Given the description of an element on the screen output the (x, y) to click on. 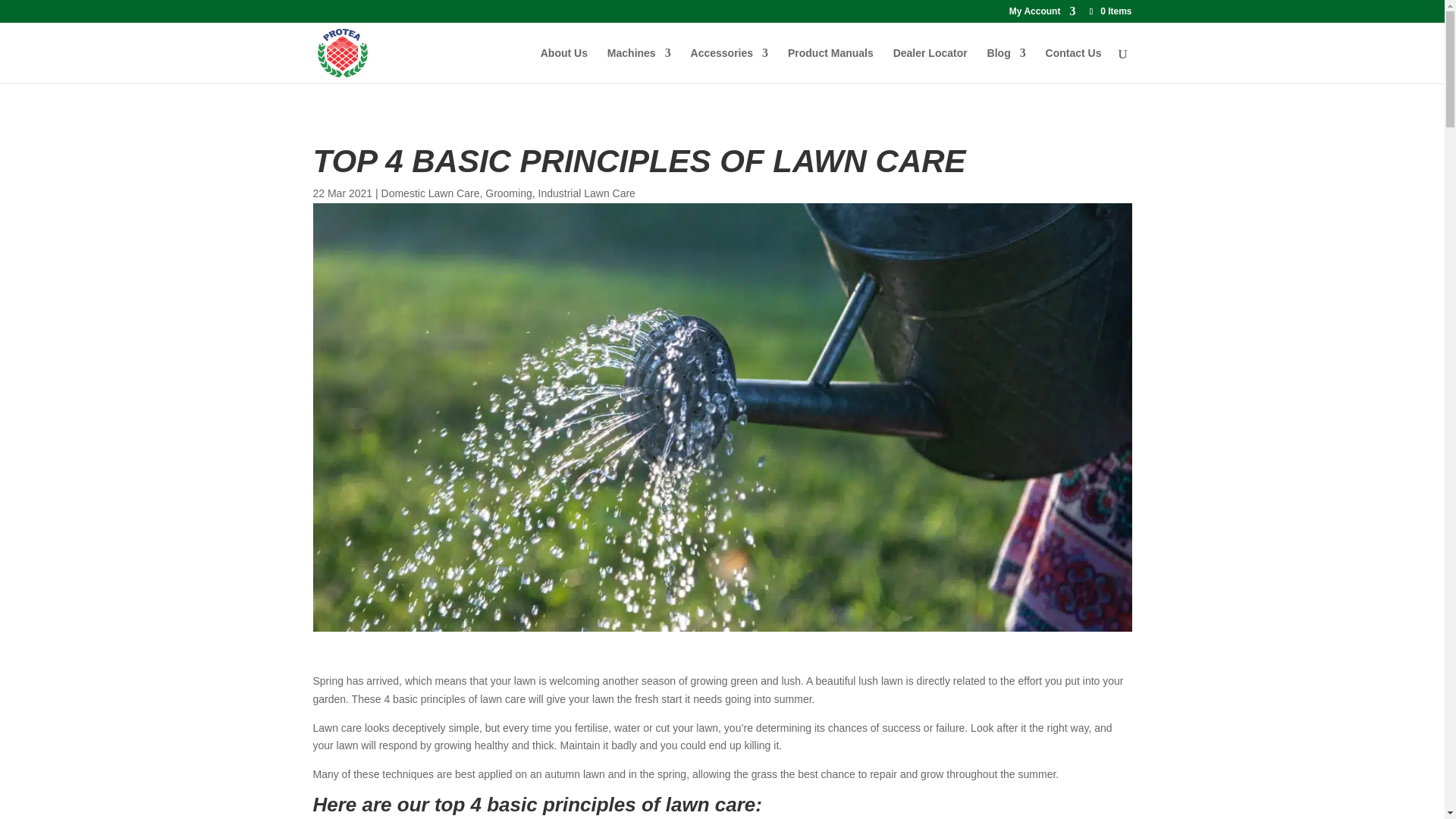
Industrial Lawn Care (586, 193)
watering lawn (722, 627)
Product Manuals (830, 65)
Dealer Locator (930, 65)
Blog (1006, 65)
Domestic Lawn Care (430, 193)
0 Items (1108, 10)
Grooming (507, 193)
Accessories (729, 65)
My Account (1042, 14)
About Us (564, 65)
Machines (639, 65)
Contact Us (1073, 65)
